Given the description of an element on the screen output the (x, y) to click on. 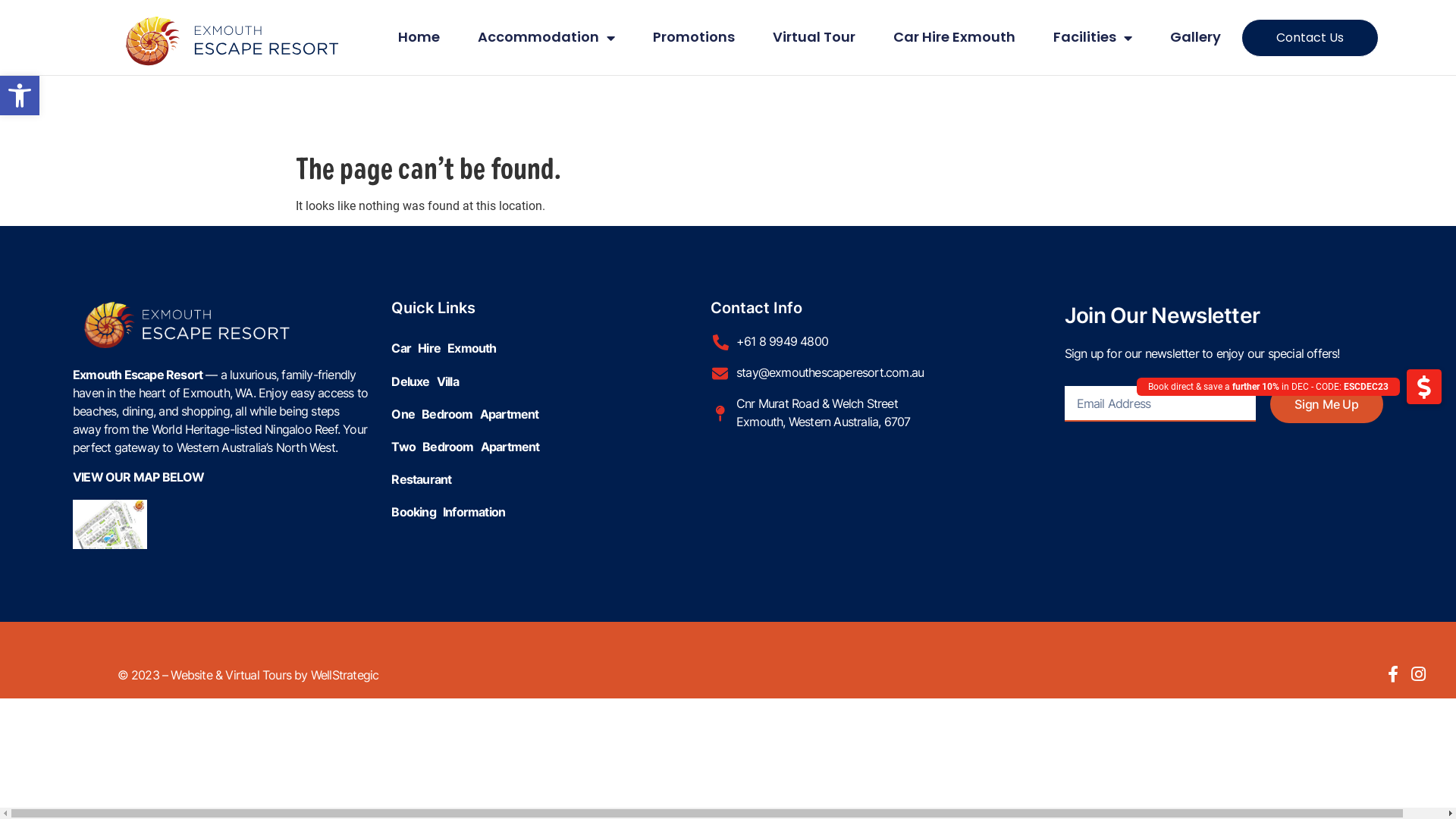
Facilities Element type: text (1092, 36)
Two Bedroom Apartment Element type: text (550, 446)
Gallery Element type: text (1195, 36)
+61 8 9949 4800 Element type: text (821, 341)
Sign Me Up Element type: text (1326, 404)
Car Hire Exmouth Element type: text (954, 36)
Virtual Tour Element type: text (813, 36)
Open toolbar
Accessibility Tools Element type: text (19, 95)
One Bedroom Apartment Element type: text (550, 414)
Restaurant Element type: text (550, 479)
Booking Information Element type: text (550, 511)
Deluxe Villa Element type: text (550, 381)
Contact Us Element type: text (1309, 37)
Promotions Element type: text (693, 36)
Home Element type: text (418, 36)
Book direct & save a further 10% in DEC - CODE: ESCDEC23 Element type: text (1423, 385)
Accommodation Element type: text (546, 36)
Car Hire Exmouth Element type: text (550, 348)
